Given the description of an element on the screen output the (x, y) to click on. 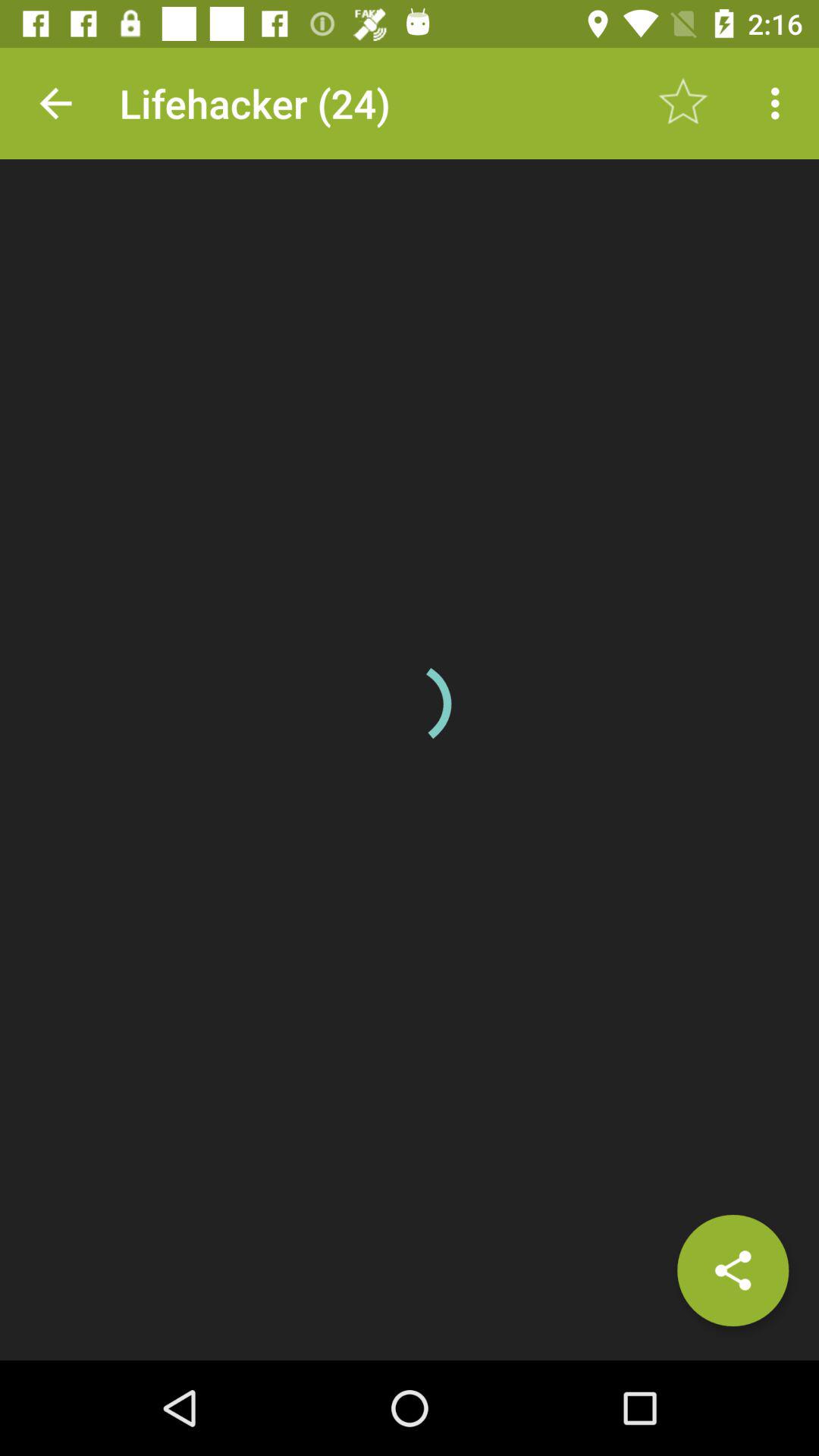
turn off the item at the center (409, 703)
